Given the description of an element on the screen output the (x, y) to click on. 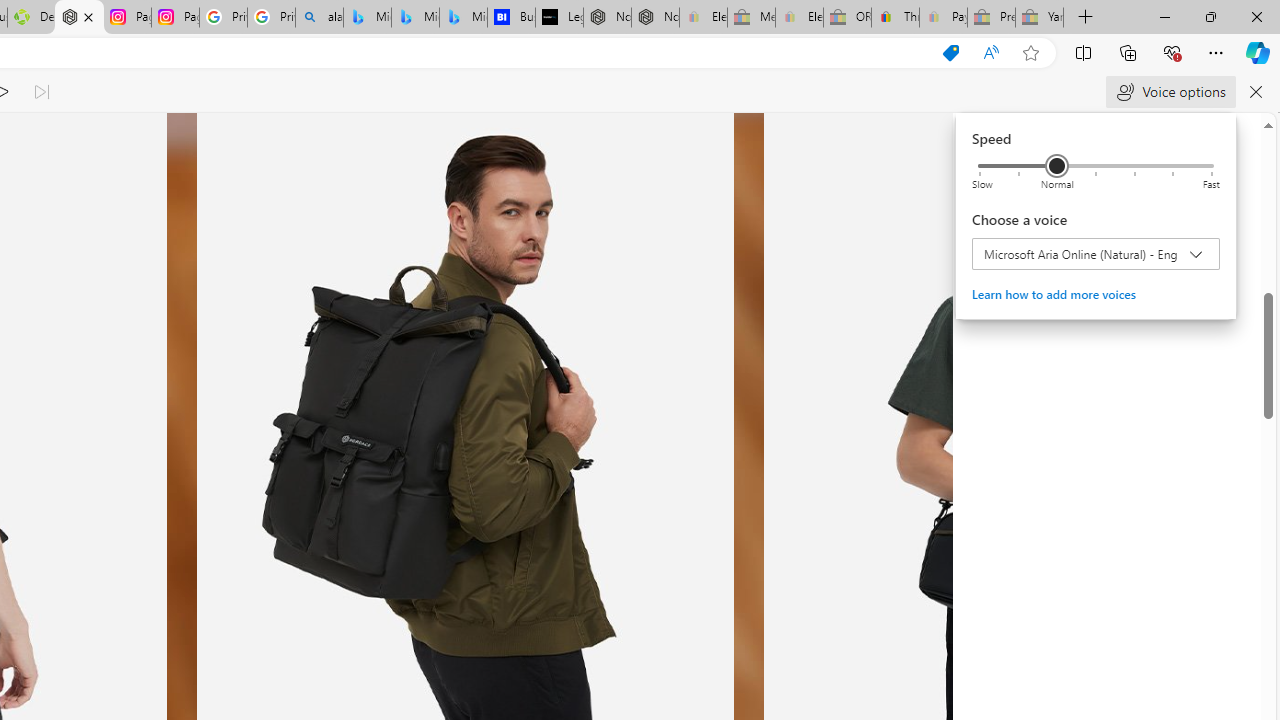
Press Room - eBay Inc. - Sleeping (991, 17)
